Given the description of an element on the screen output the (x, y) to click on. 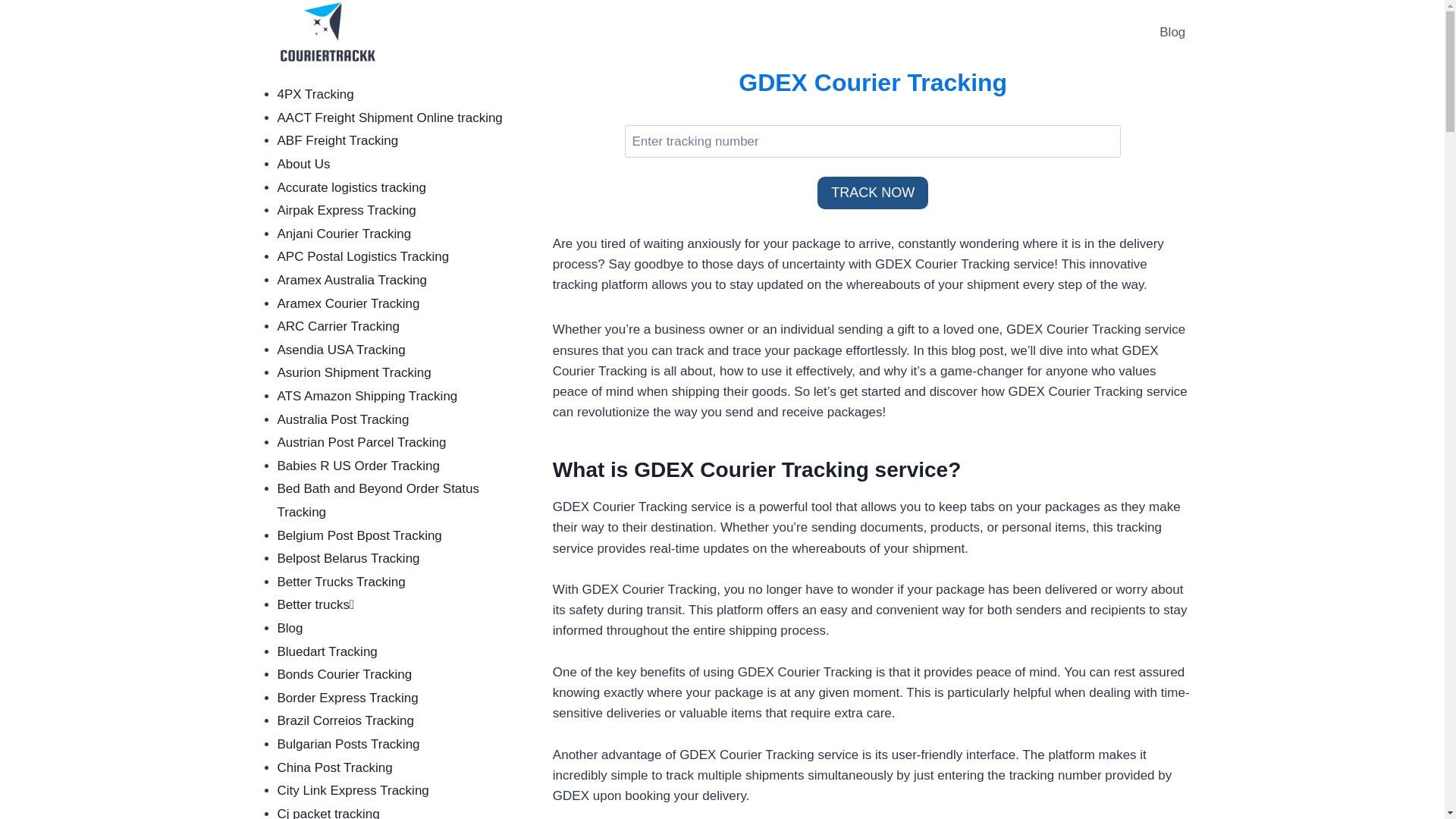
ARC Carrier Tracking (339, 326)
4PX Tracking (315, 93)
Better Trucks Tracking (342, 581)
Accurate logistics tracking (352, 187)
TRACK NOW (872, 192)
Border Express Tracking (348, 698)
Aramex Courier Tracking (349, 303)
Asurion Shipment Tracking (354, 372)
Belpost Belarus Tracking (349, 558)
Anjani Courier Tracking (345, 233)
ATS Amazon Shipping Tracking (368, 396)
Bluedart Tracking (327, 651)
ABF Freight Tracking (338, 140)
Babies R US Order Tracking (358, 465)
Aramex Australia Tracking (352, 279)
